Given the description of an element on the screen output the (x, y) to click on. 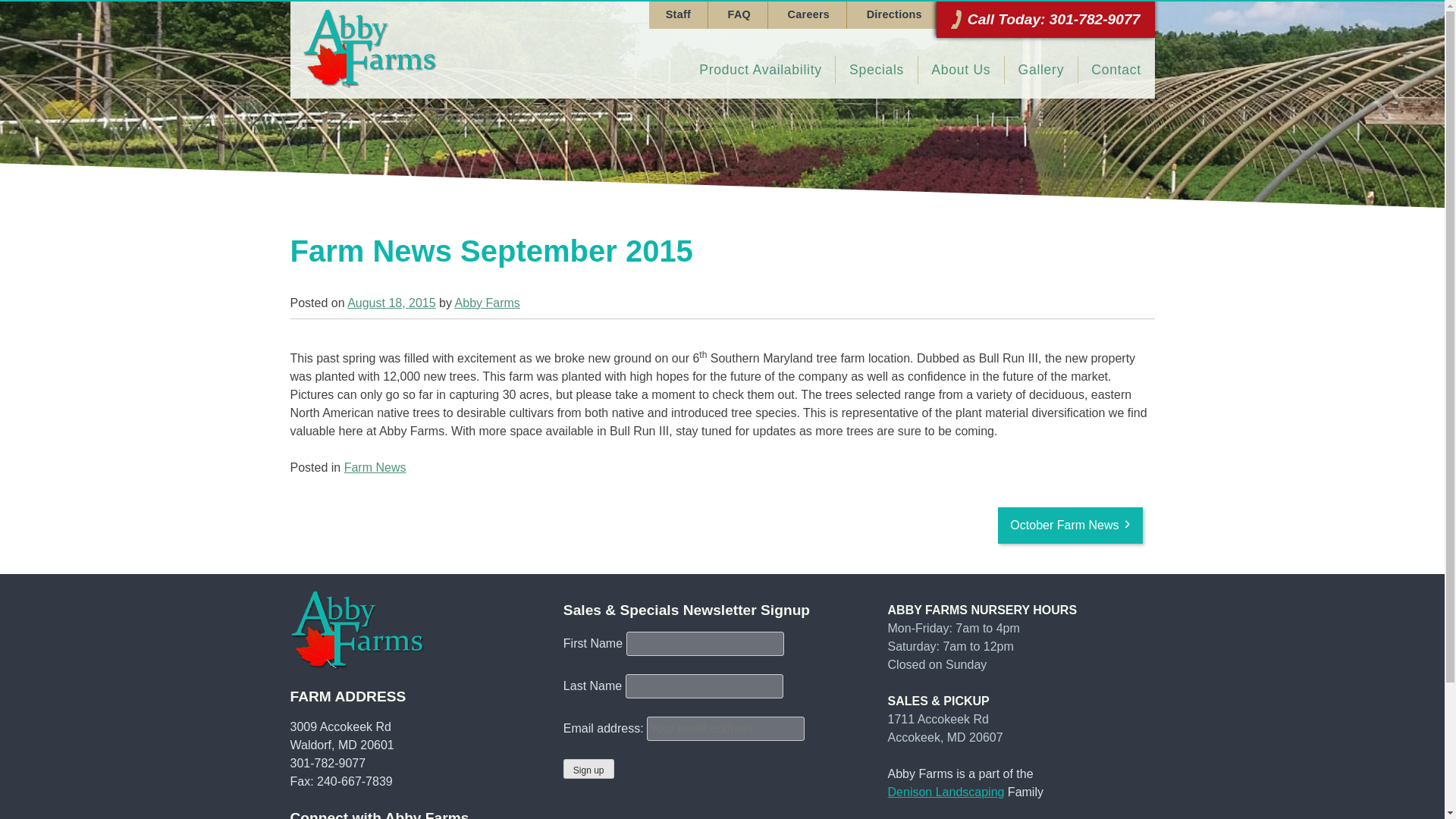
Abby Farms (486, 302)
October Farm News (1069, 524)
Sign up (588, 768)
Gallery (1040, 70)
Staff (678, 14)
About Us (961, 70)
Product Availability (760, 70)
Sign up (588, 768)
August 18, 2015 (391, 302)
Contact (1116, 70)
